Given the description of an element on the screen output the (x, y) to click on. 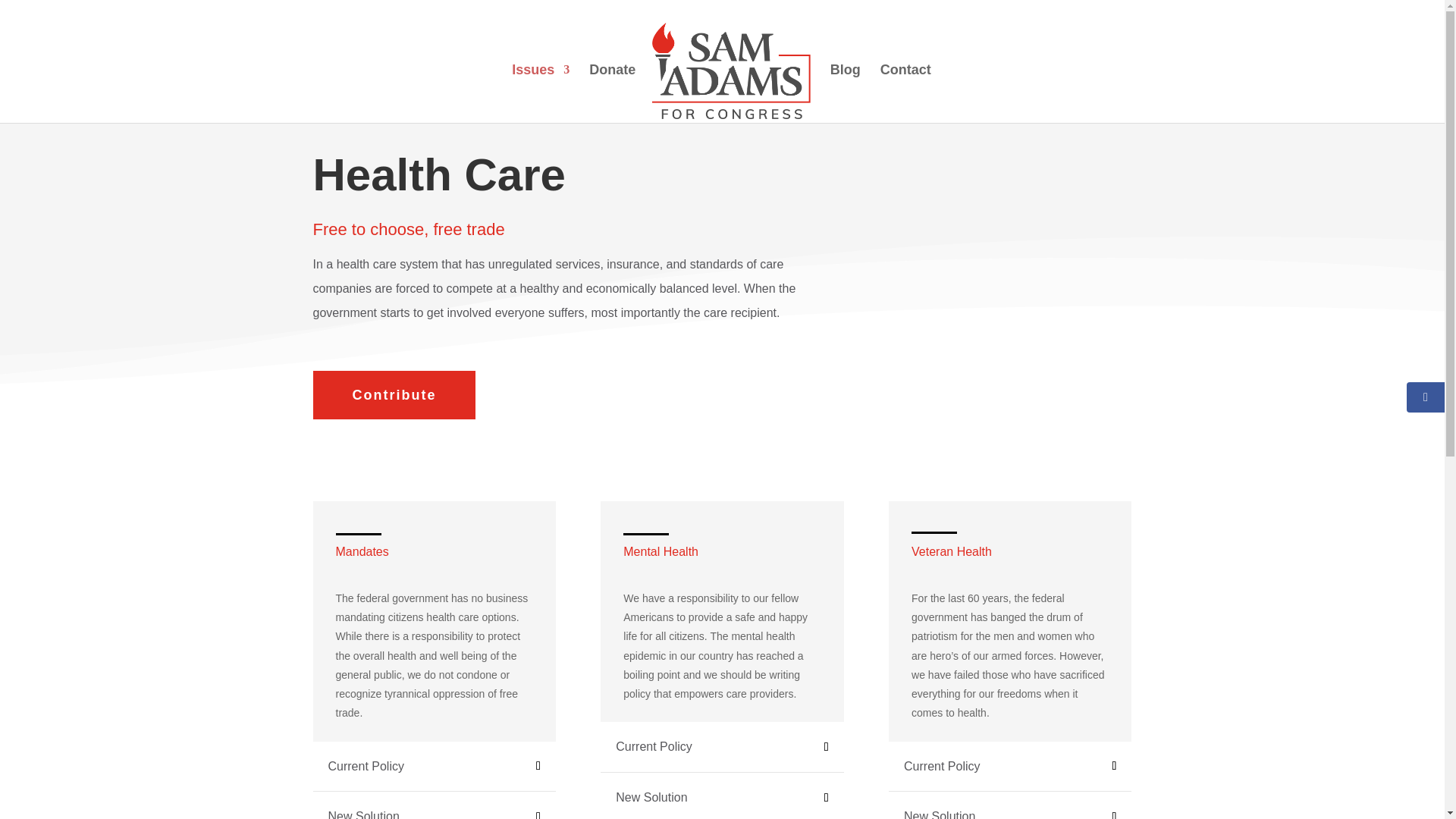
Issues (540, 93)
Contribute (394, 395)
Blog (844, 93)
Donate (611, 93)
Contact (905, 93)
